Given the description of an element on the screen output the (x, y) to click on. 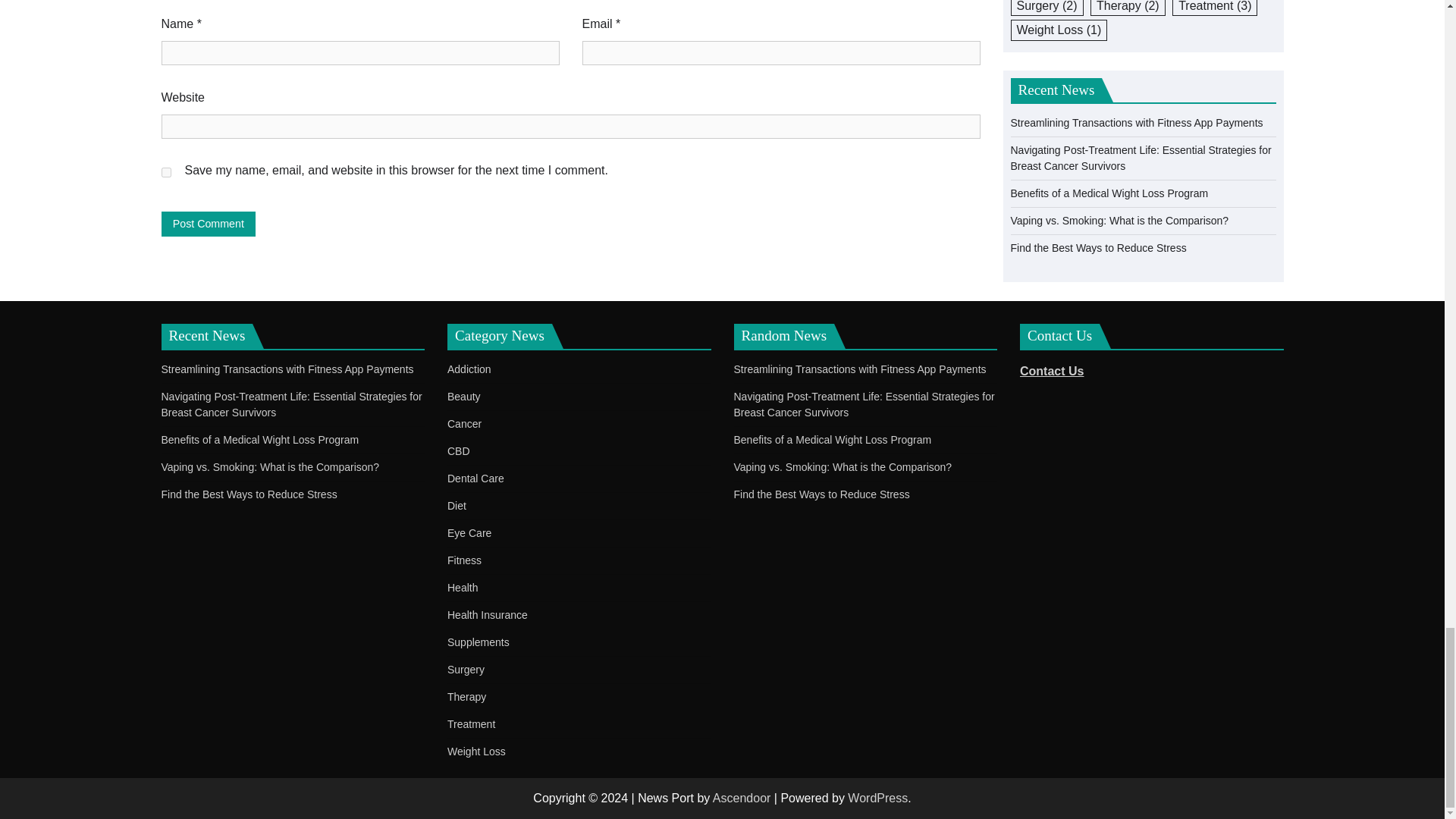
yes (165, 172)
Post Comment (208, 223)
